Given the description of an element on the screen output the (x, y) to click on. 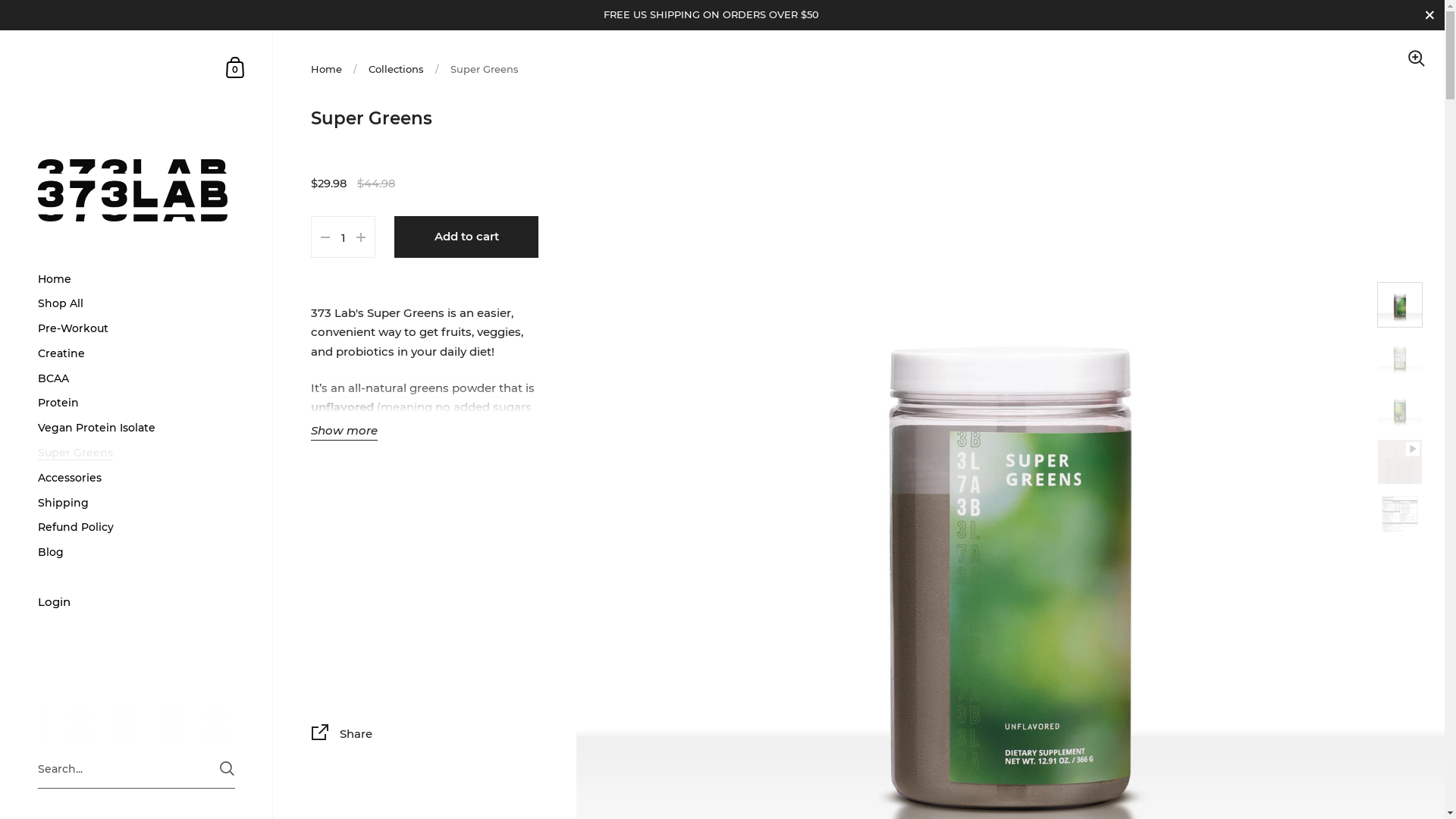
FREE US SHIPPING ON ORDERS OVER $50 Element type: text (722, 15)
Shipping Element type: text (136, 502)
Pre-Workout Element type: text (136, 328)
Accessories Element type: text (136, 477)
Collections Element type: text (395, 68)
Vegan Protein Isolate Element type: text (136, 427)
Show more Element type: text (343, 430)
Protein Element type: text (136, 402)
Refund Policy Element type: text (136, 526)
Shop All Element type: text (136, 303)
Creatine Element type: text (136, 353)
0 Element type: text (235, 66)
Share Element type: text (424, 735)
Home Element type: text (136, 278)
Login Element type: text (136, 603)
BCAA Element type: text (136, 378)
Home Element type: text (326, 68)
Super Greens Element type: text (136, 452)
Blog Element type: text (136, 551)
Add to cart Element type: text (466, 236)
